Given the description of an element on the screen output the (x, y) to click on. 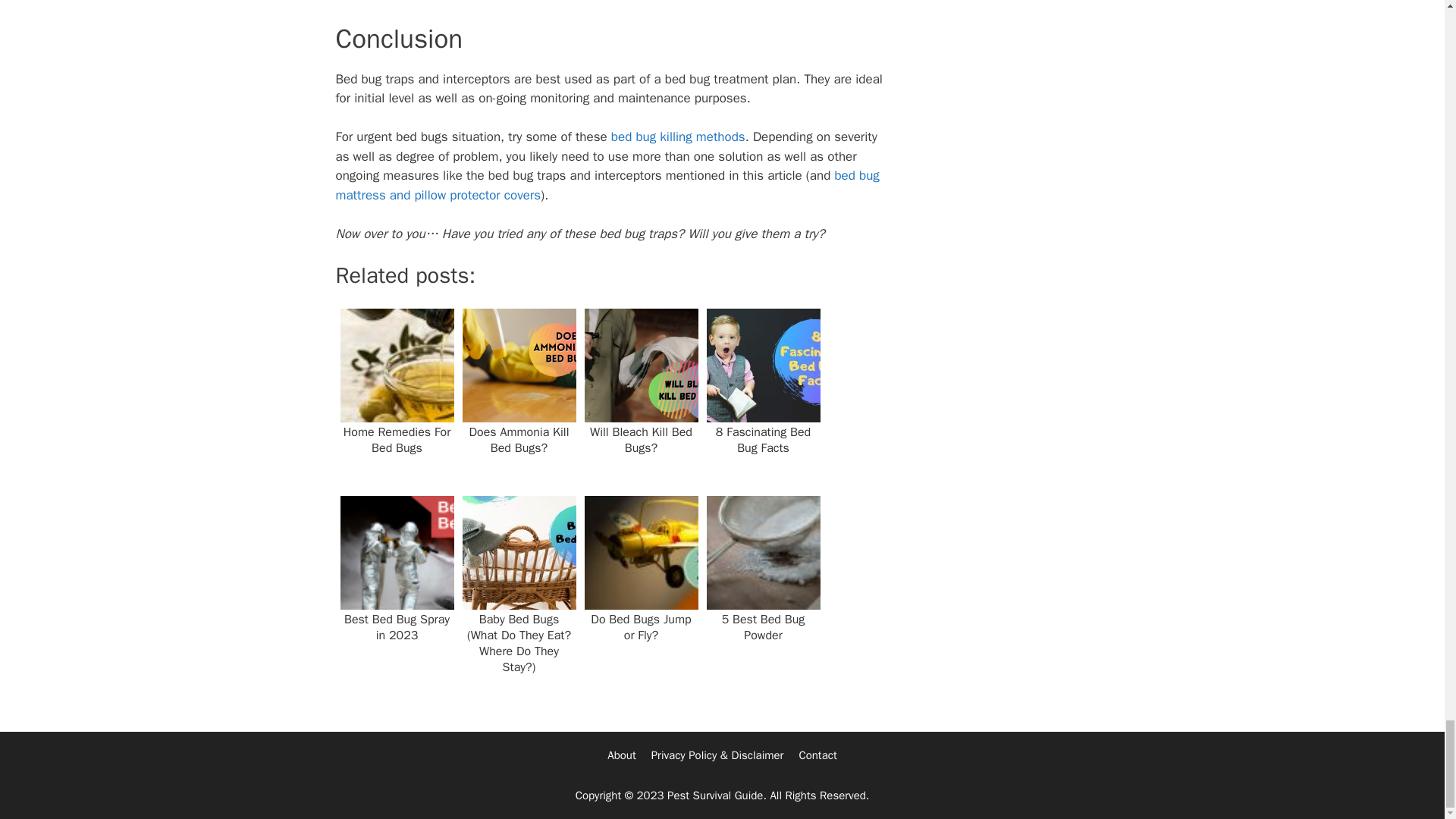
8 Best Bed Bug Killer 2017 (678, 136)
Best Bed Bug Mattress Encasement Cover (606, 185)
